Given the description of an element on the screen output the (x, y) to click on. 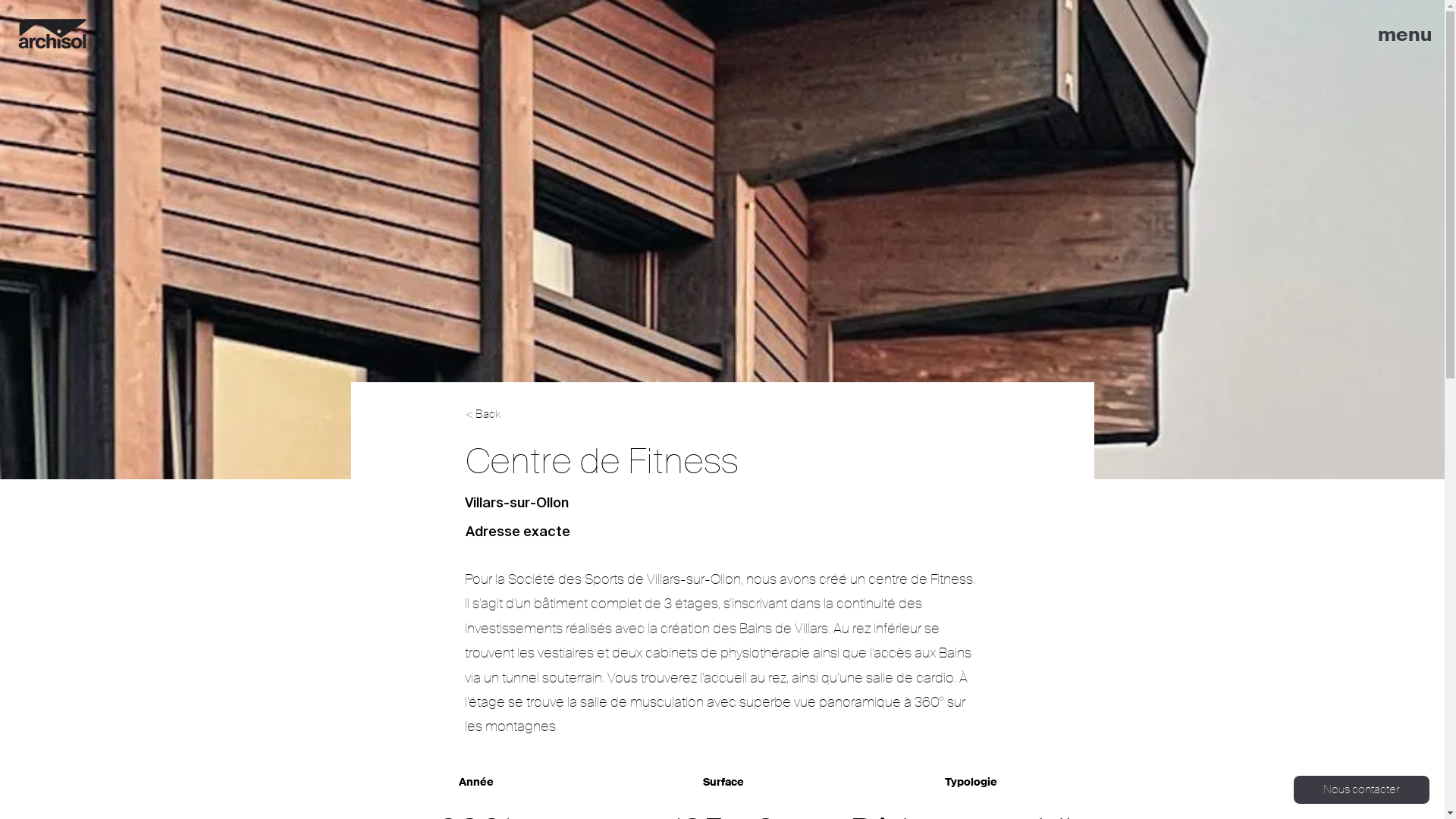
menu Element type: text (1403, 34)
< Back Element type: text (515, 414)
Nous contacter Element type: text (1361, 789)
